Given the description of an element on the screen output the (x, y) to click on. 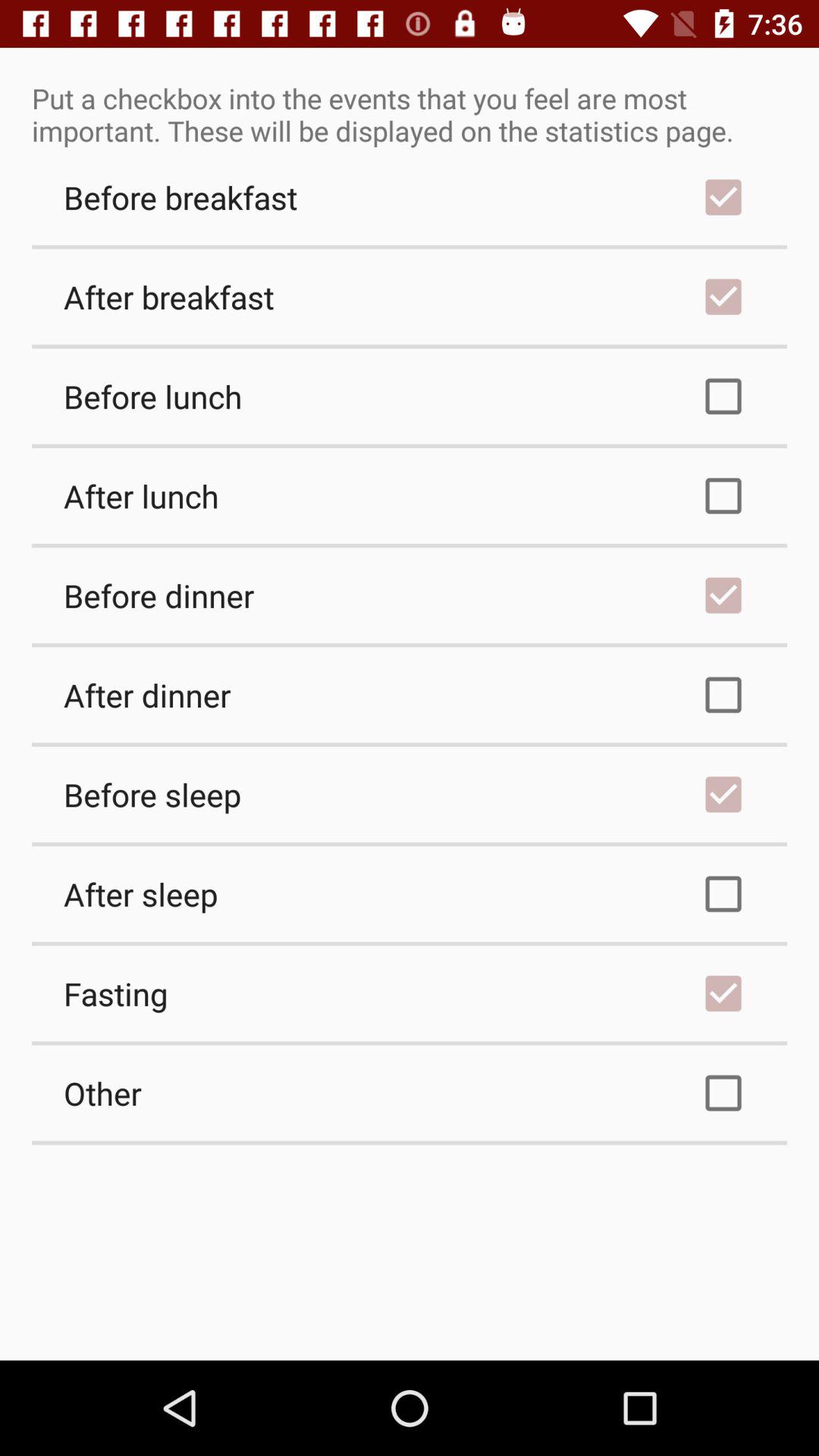
launch checkbox below after dinner checkbox (409, 794)
